Given the description of an element on the screen output the (x, y) to click on. 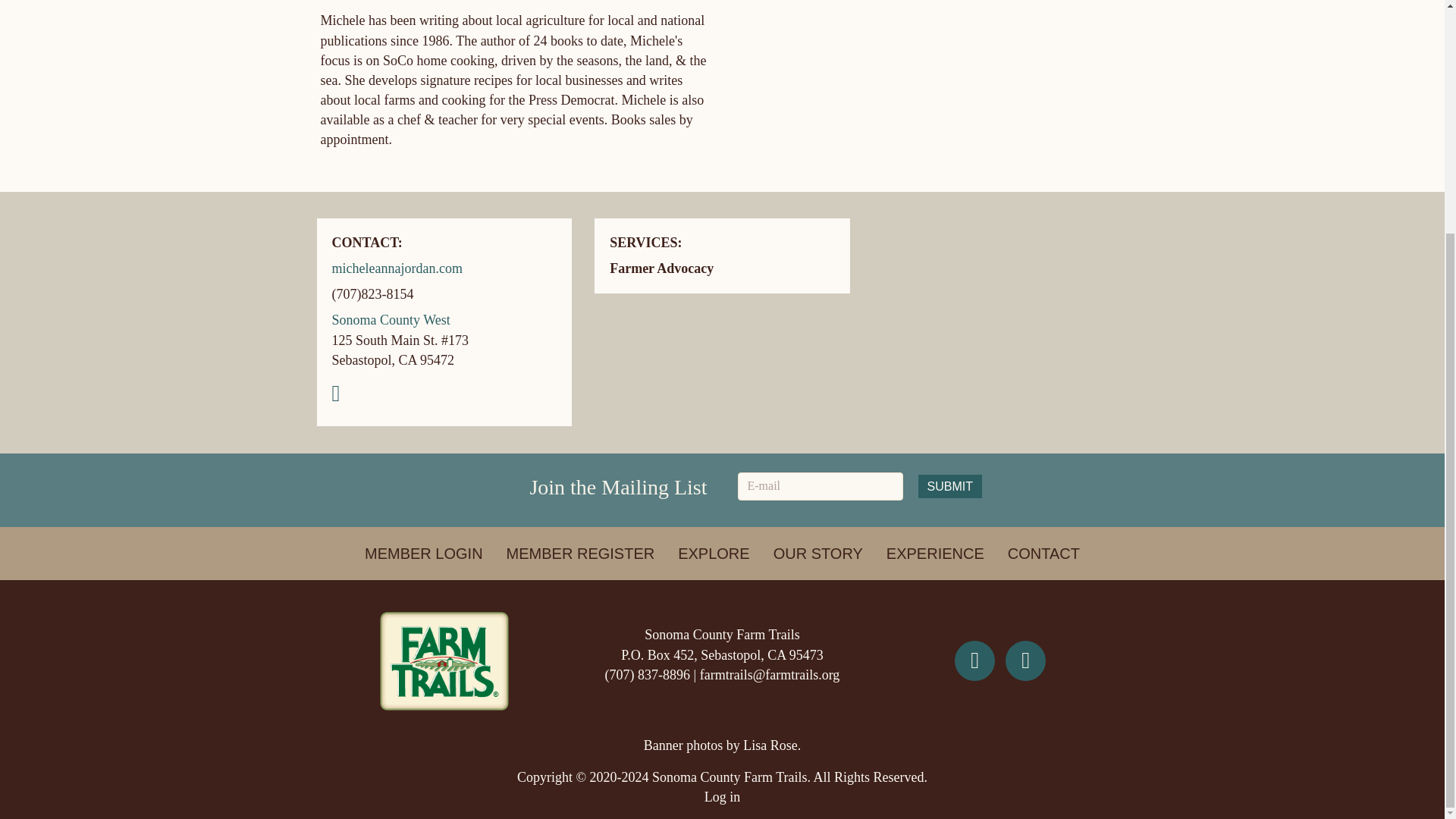
SUBMIT (949, 486)
farm-trails-logo (444, 660)
